Given the description of an element on the screen output the (x, y) to click on. 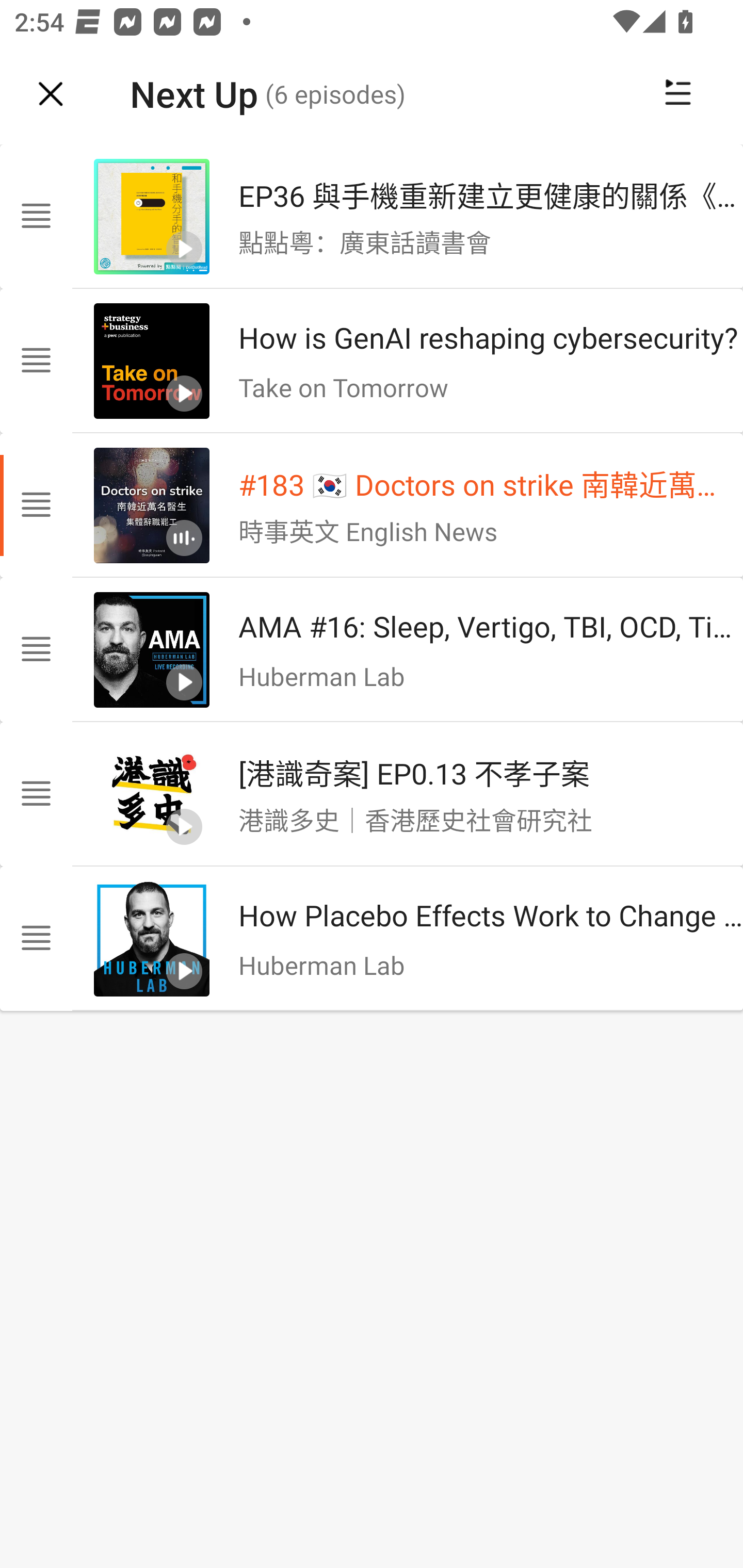
Navigate up (50, 93)
